Given the description of an element on the screen output the (x, y) to click on. 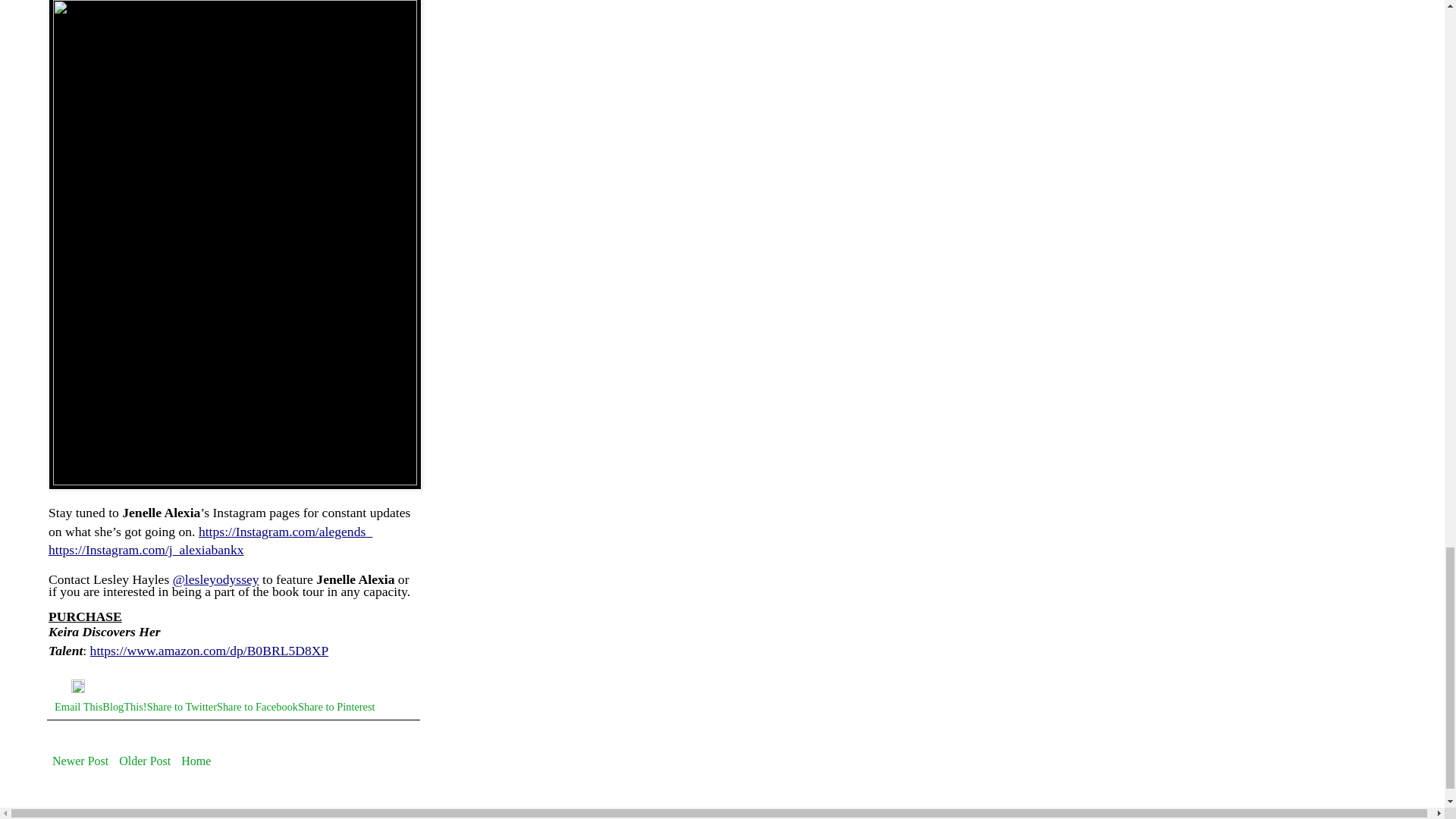
Share to Twitter (181, 706)
Newer Post (80, 761)
BlogThis! (124, 706)
Email This (78, 706)
Share to Facebook (257, 706)
Newer Post (80, 761)
BlogThis! (124, 706)
Home (195, 761)
Email Post (63, 689)
Share to Twitter (181, 706)
Email This (78, 706)
Share to Pinterest (336, 706)
Share to Facebook (257, 706)
Older Post (144, 761)
Share to Pinterest (336, 706)
